Given the description of an element on the screen output the (x, y) to click on. 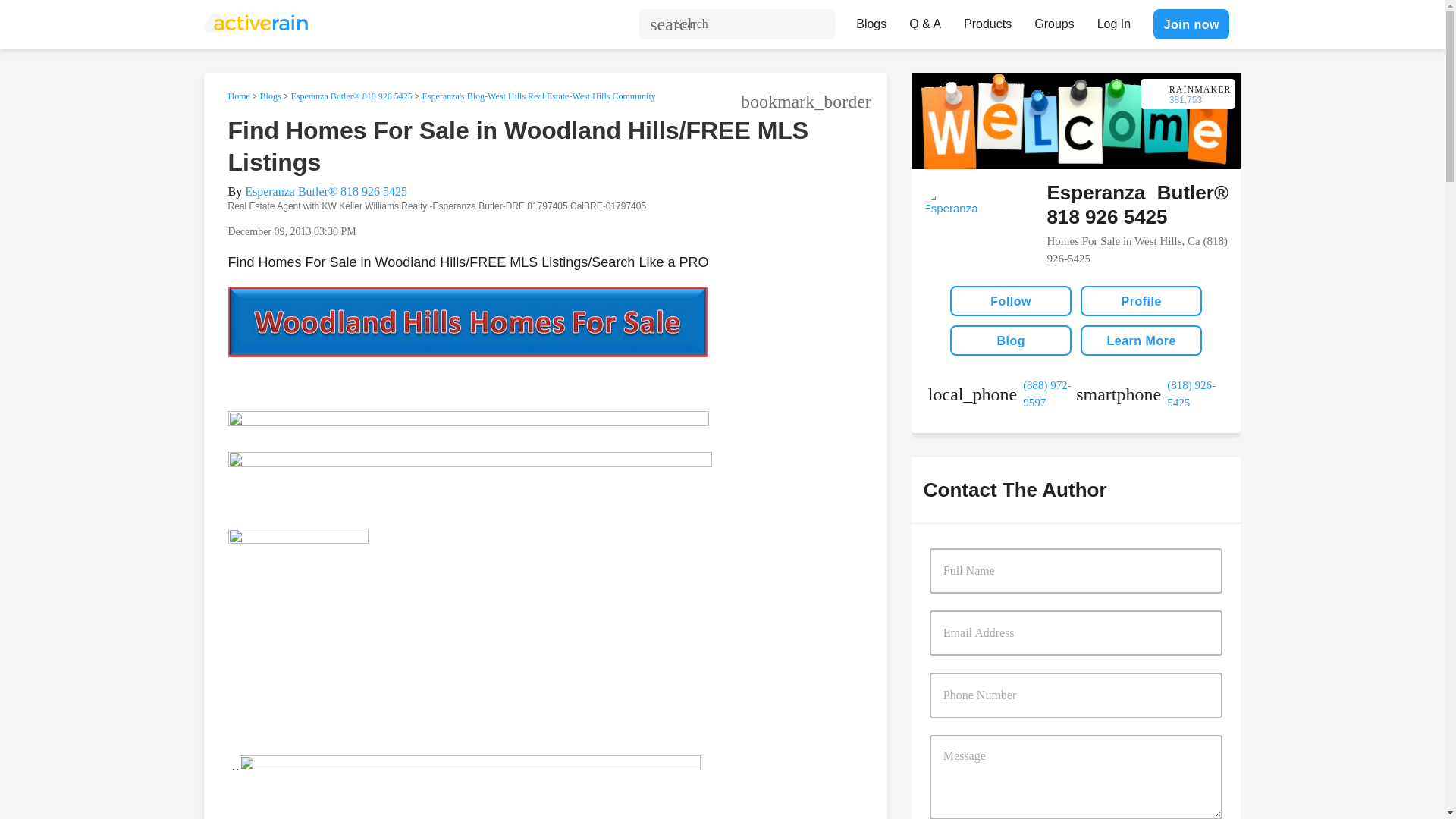
work (1001, 393)
Log In (1113, 19)
Esperanza's Blog-West Hills Real Estate-West Hills Community (539, 95)
Blogs (870, 19)
Products (986, 19)
Home (237, 95)
Blogs (270, 95)
Groups (1053, 19)
Join now (1190, 24)
cell (1149, 393)
